Given the description of an element on the screen output the (x, y) to click on. 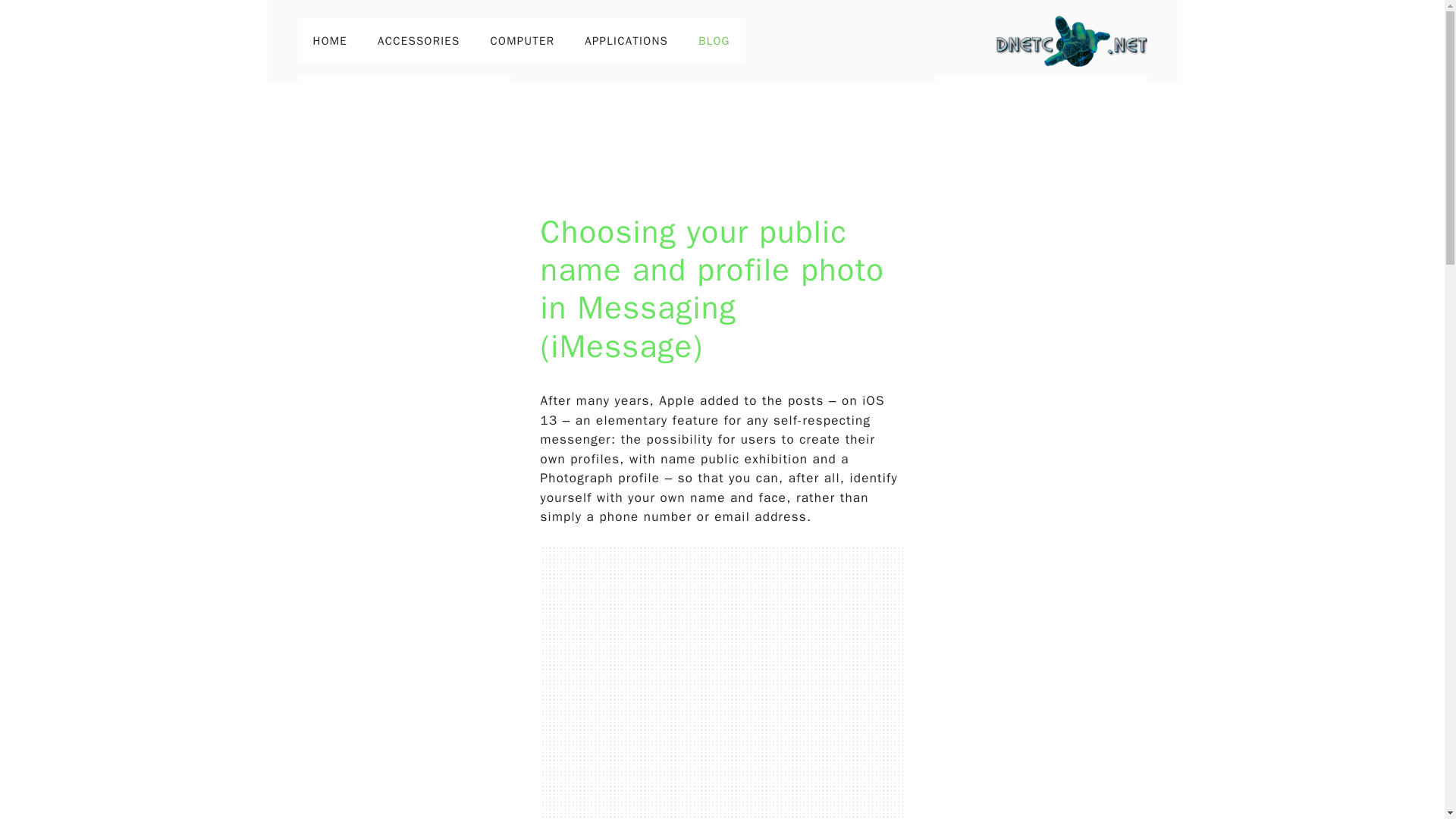
HOME (329, 40)
ACCESSORIES (419, 40)
APPLICATIONS (625, 40)
BLOG (713, 40)
COMPUTER (523, 40)
